Given the description of an element on the screen output the (x, y) to click on. 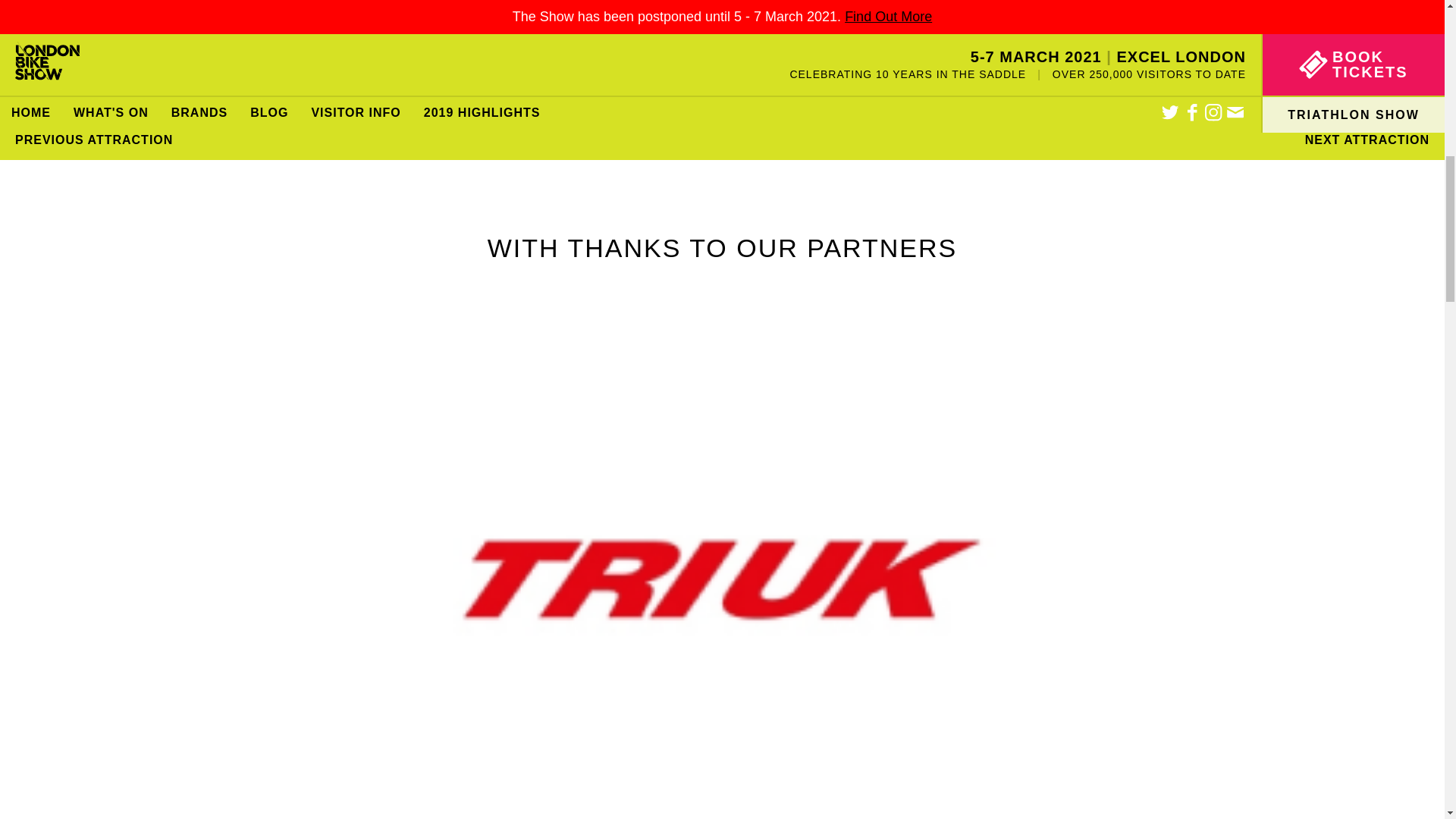
Wetsuit Testing (902, 87)
Experts Stage (180, 87)
The Cytech Workshop (541, 87)
PREVIOUS ATTRACTION (93, 139)
